Given the description of an element on the screen output the (x, y) to click on. 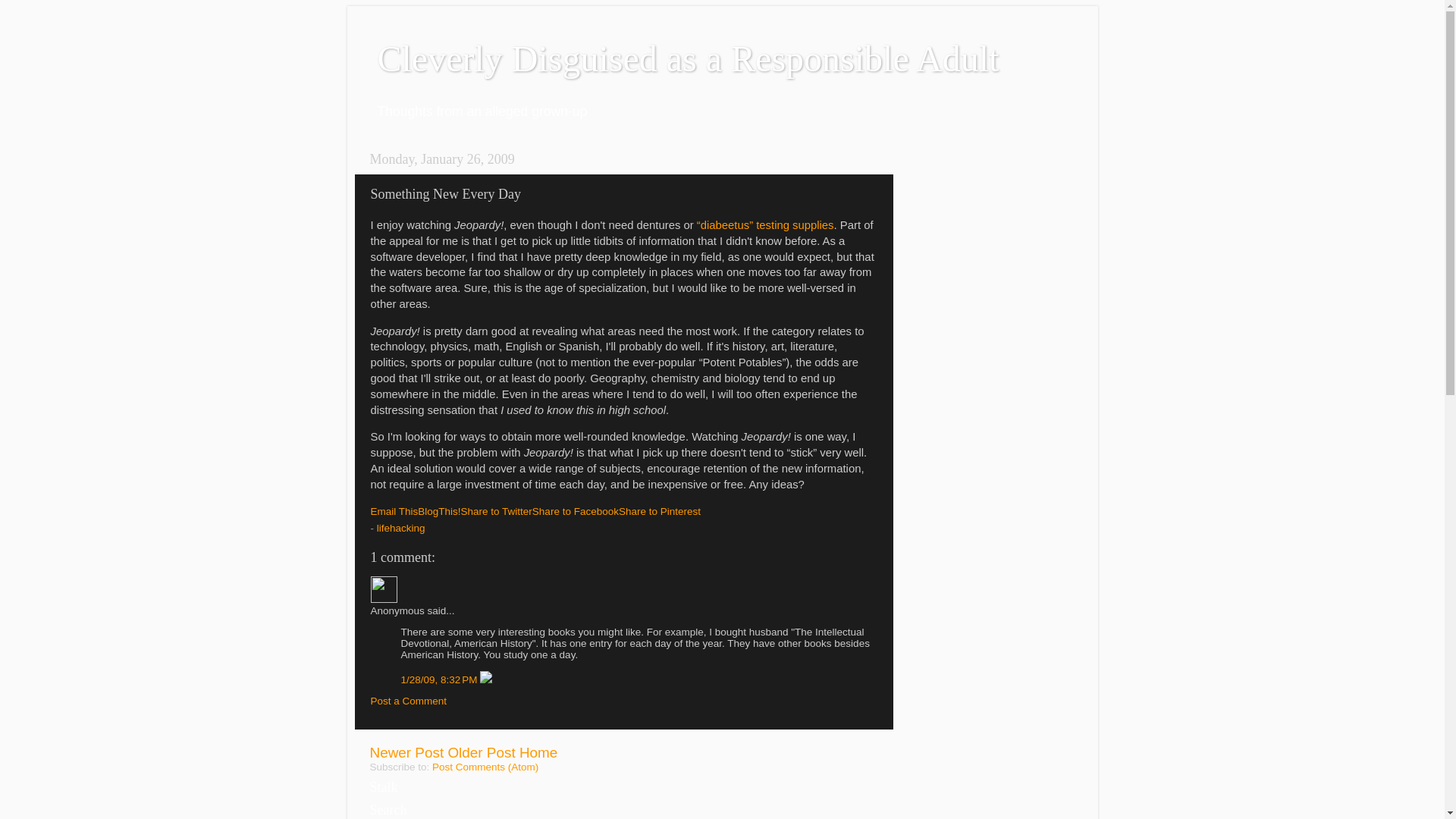
Newer Post (406, 752)
Email This (393, 511)
Cleverly Disguised as a Responsible Adult (687, 58)
Post a Comment (407, 700)
BlogThis! (438, 511)
Share to Pinterest (659, 511)
Anonymous (382, 589)
lifehacking (401, 527)
Older Post (480, 752)
Share to Facebook (575, 511)
Newer Post (406, 752)
Share to Twitter (496, 511)
BlogThis! (438, 511)
Share to Facebook (575, 511)
Email This (393, 511)
